Given the description of an element on the screen output the (x, y) to click on. 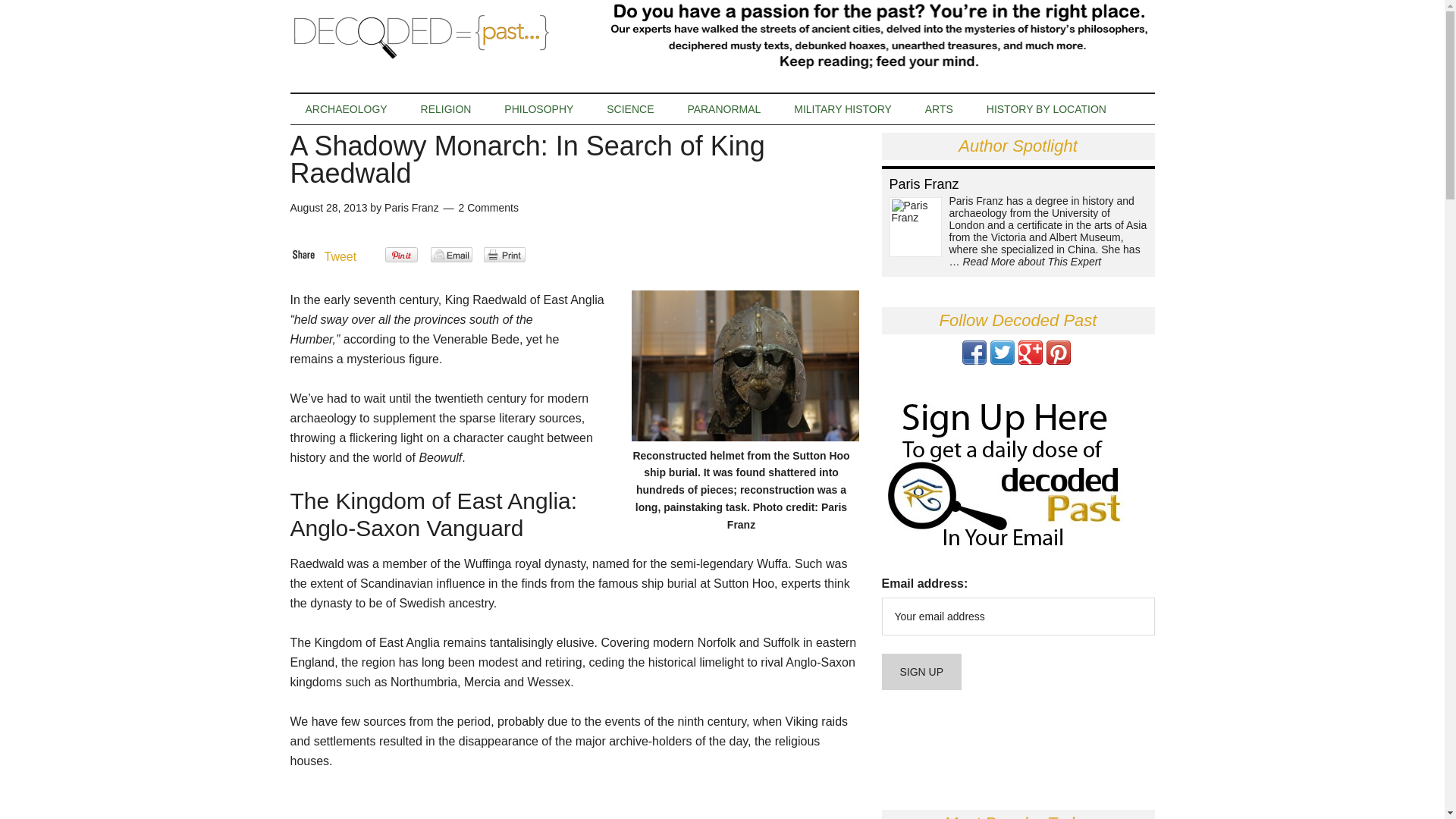
Email (450, 254)
Sign up (920, 671)
SCIENCE (629, 109)
HISTORY BY LOCATION (1046, 109)
Paris Franz (411, 207)
PARANORMAL (723, 109)
Read full Profile (1031, 261)
Tweet (340, 256)
PHILOSOPHY (538, 109)
ARCHAEOLOGY (345, 109)
